Given the description of an element on the screen output the (x, y) to click on. 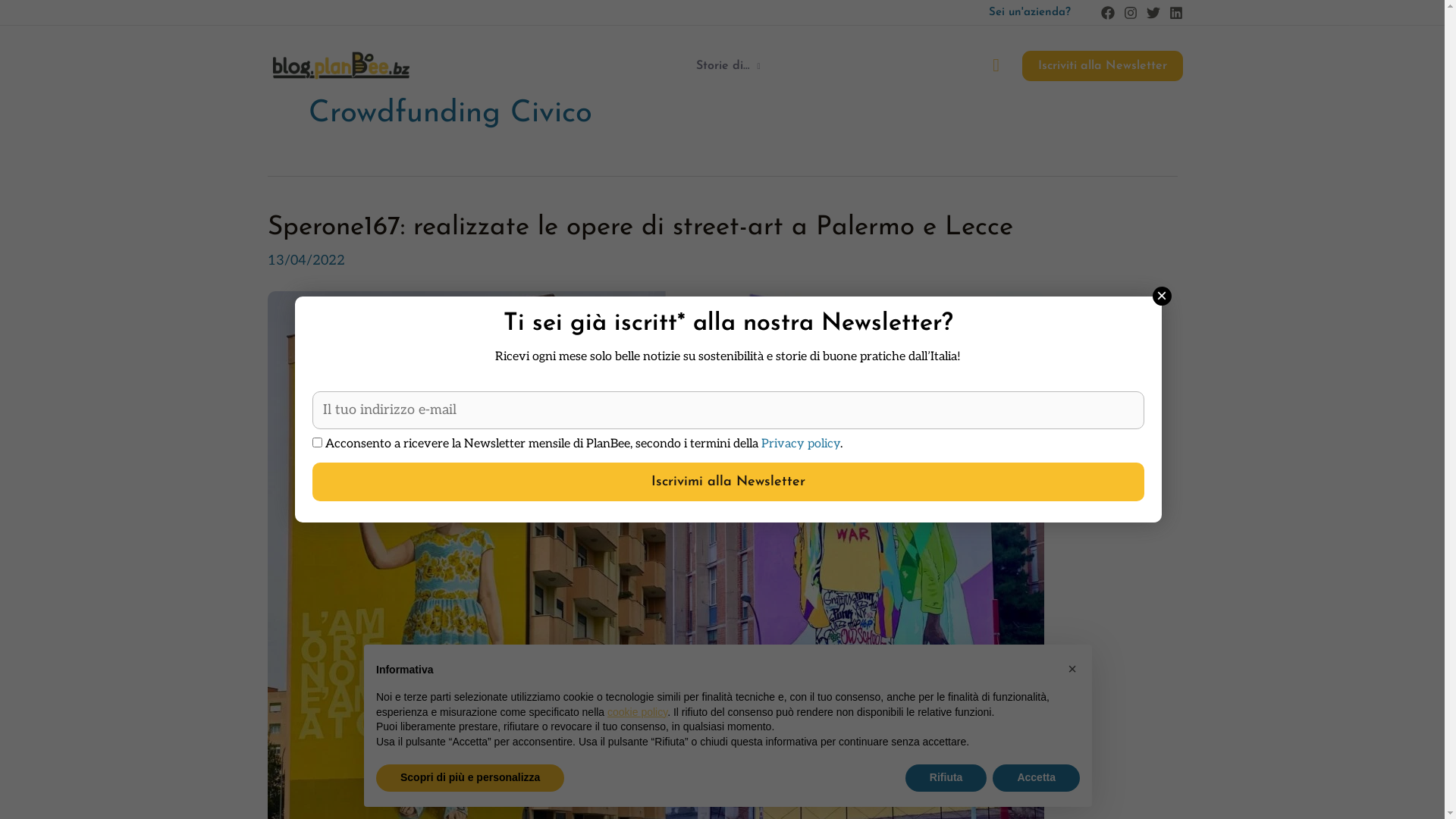
Sei un'azienda? Element type: text (1029, 12)
Accetta Element type: text (1035, 777)
Iscrivimi alla Newsletter Element type: text (728, 482)
cookie policy Element type: text (637, 712)
Privacy policy Element type: text (800, 443)
Iscriviti alla Newsletter Element type: text (1102, 65)
Rifiuta Element type: text (946, 777)
